Given the description of an element on the screen output the (x, y) to click on. 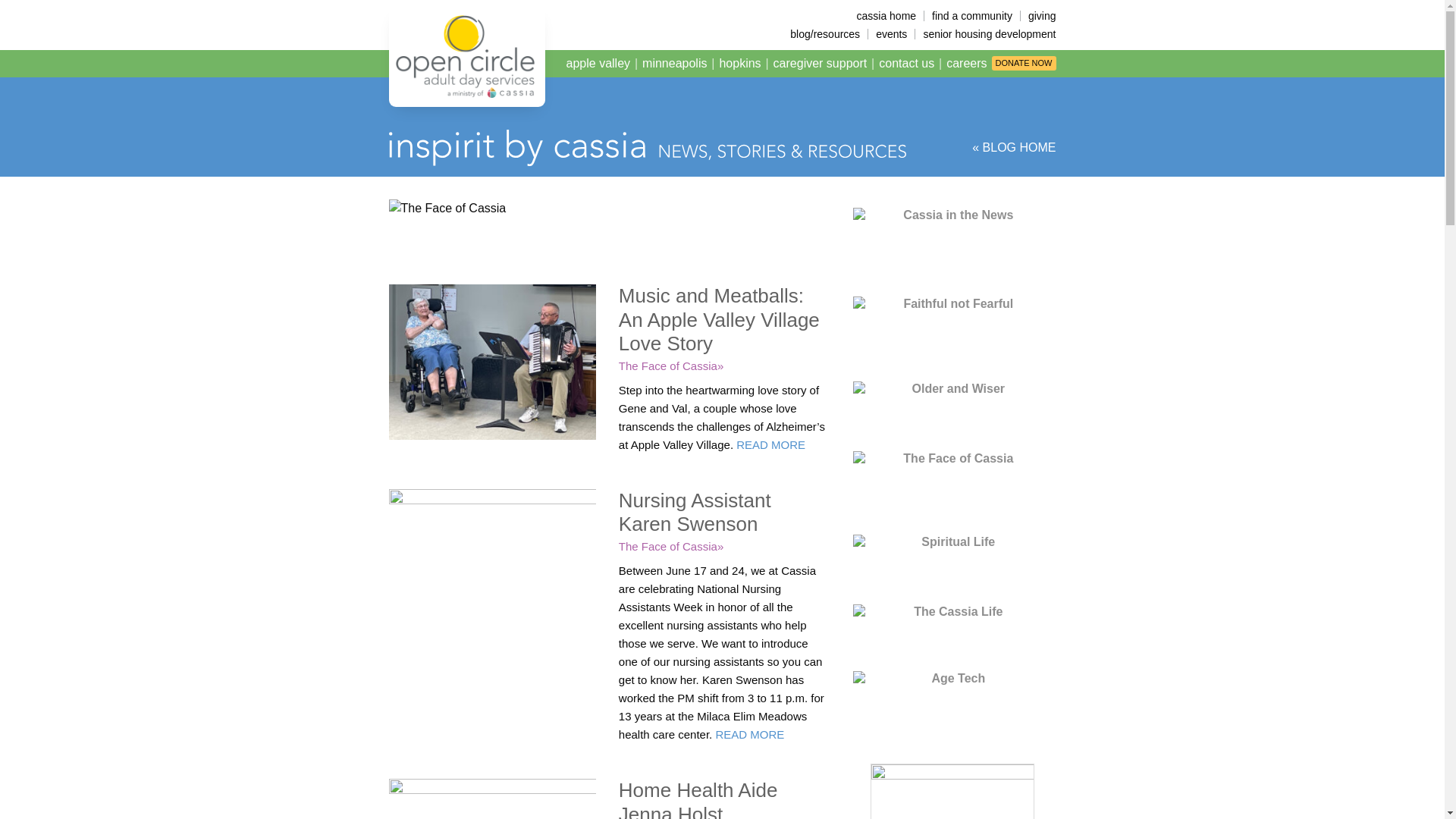
minneapolis (674, 63)
DONATE NOW (1024, 63)
giving (1038, 15)
apple valley (598, 63)
cassia home (885, 15)
caregiver support (820, 63)
Music and Meatballs: An Apple Valley Village Love Story (718, 318)
find a community (971, 15)
hopkins (740, 63)
The Face of Cassia (670, 365)
careers (966, 63)
Nursing Assistant Karen Swenson (694, 511)
contact us (906, 63)
READ MORE (770, 444)
The Face of Cassia (670, 545)
